Given the description of an element on the screen output the (x, y) to click on. 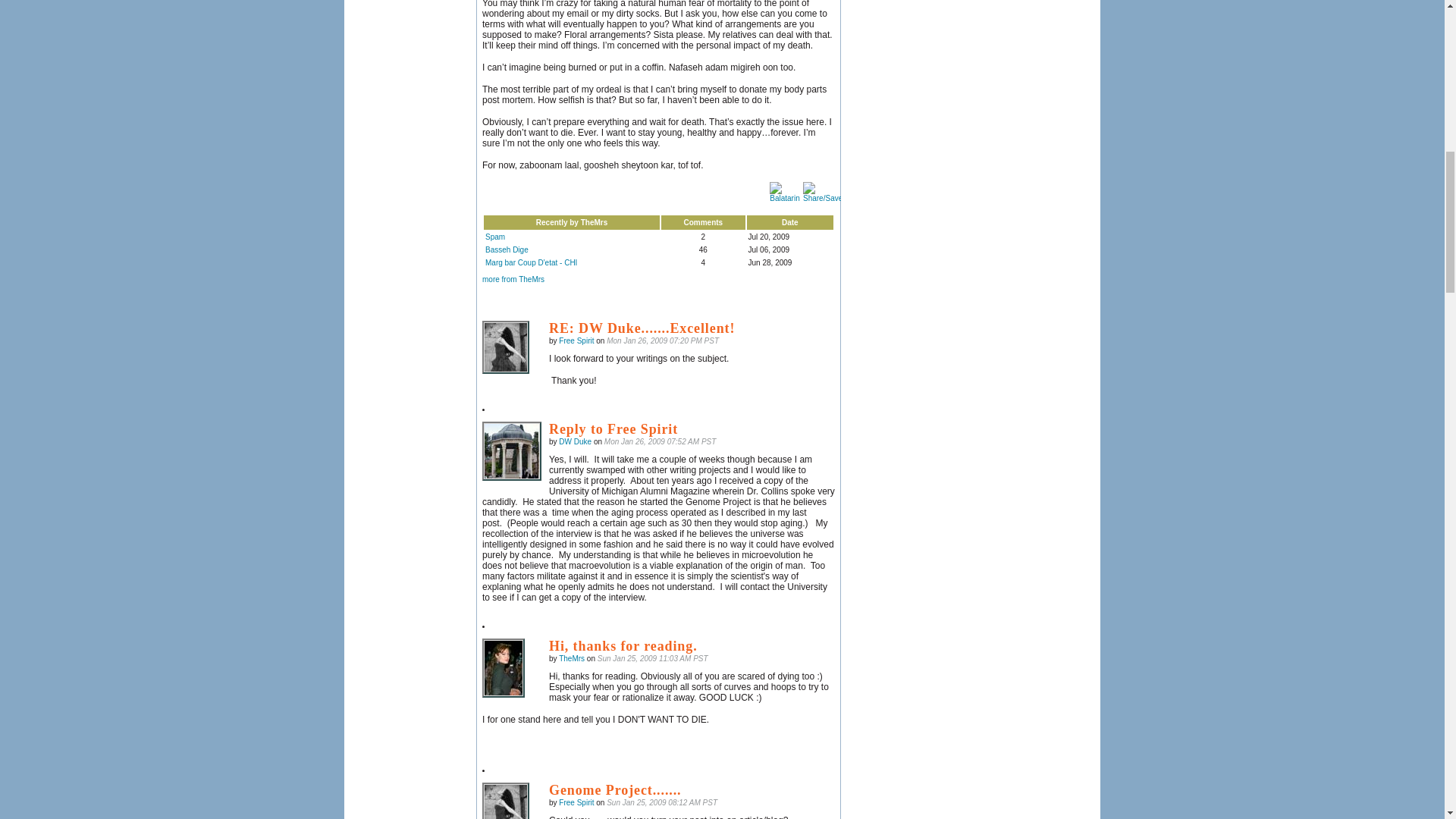
Free Spirit (505, 800)
View user profile. (576, 802)
View user profile. (576, 340)
View user profile. (575, 441)
DW Duke (511, 450)
View user profile. (572, 658)
